Given the description of an element on the screen output the (x, y) to click on. 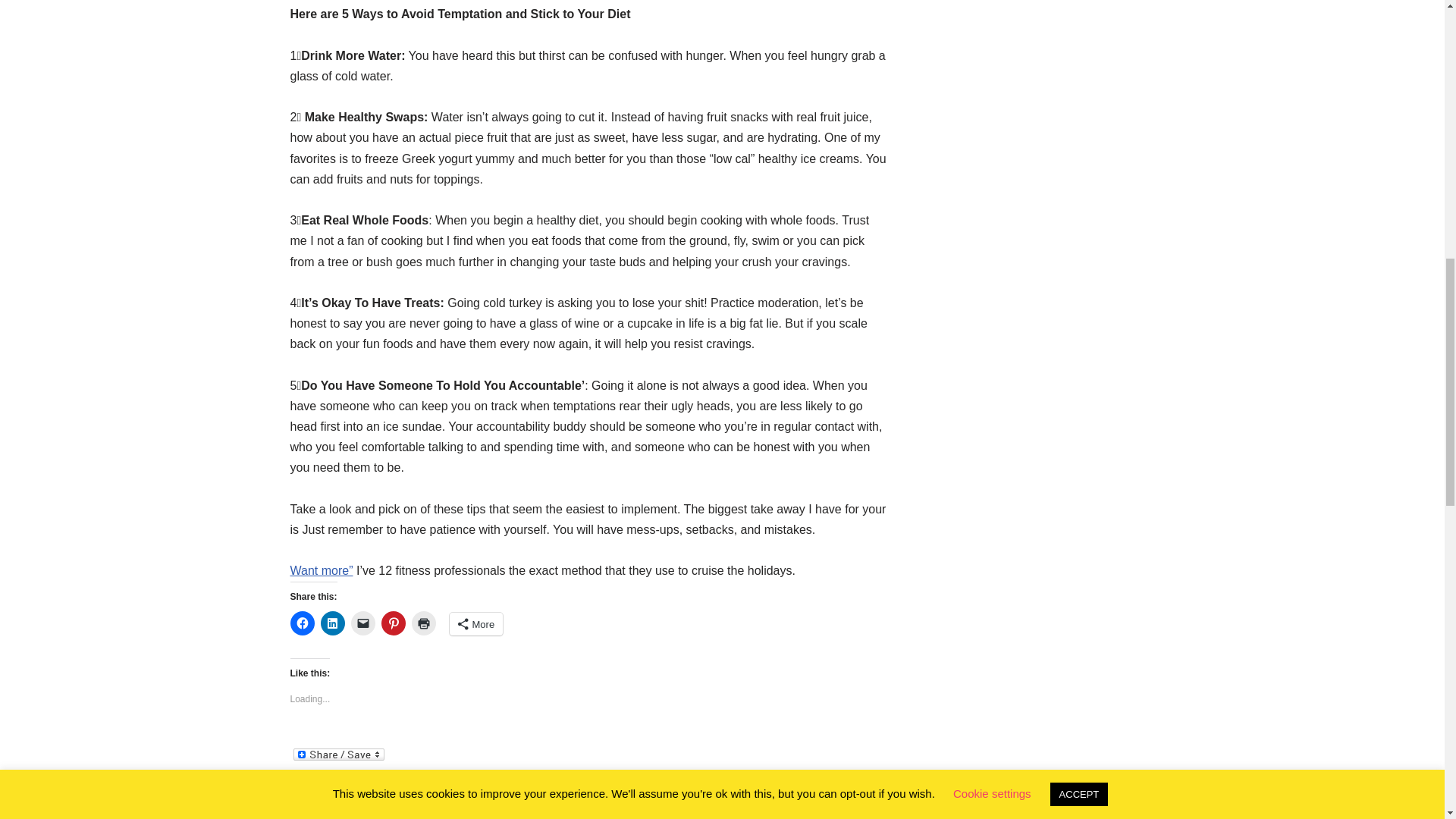
Click to share on LinkedIn (331, 622)
Click to share on Facebook (301, 622)
Click to print (422, 622)
More (475, 623)
Click to email a link to a friend (362, 622)
Click to share on Pinterest (392, 622)
